Given the description of an element on the screen output the (x, y) to click on. 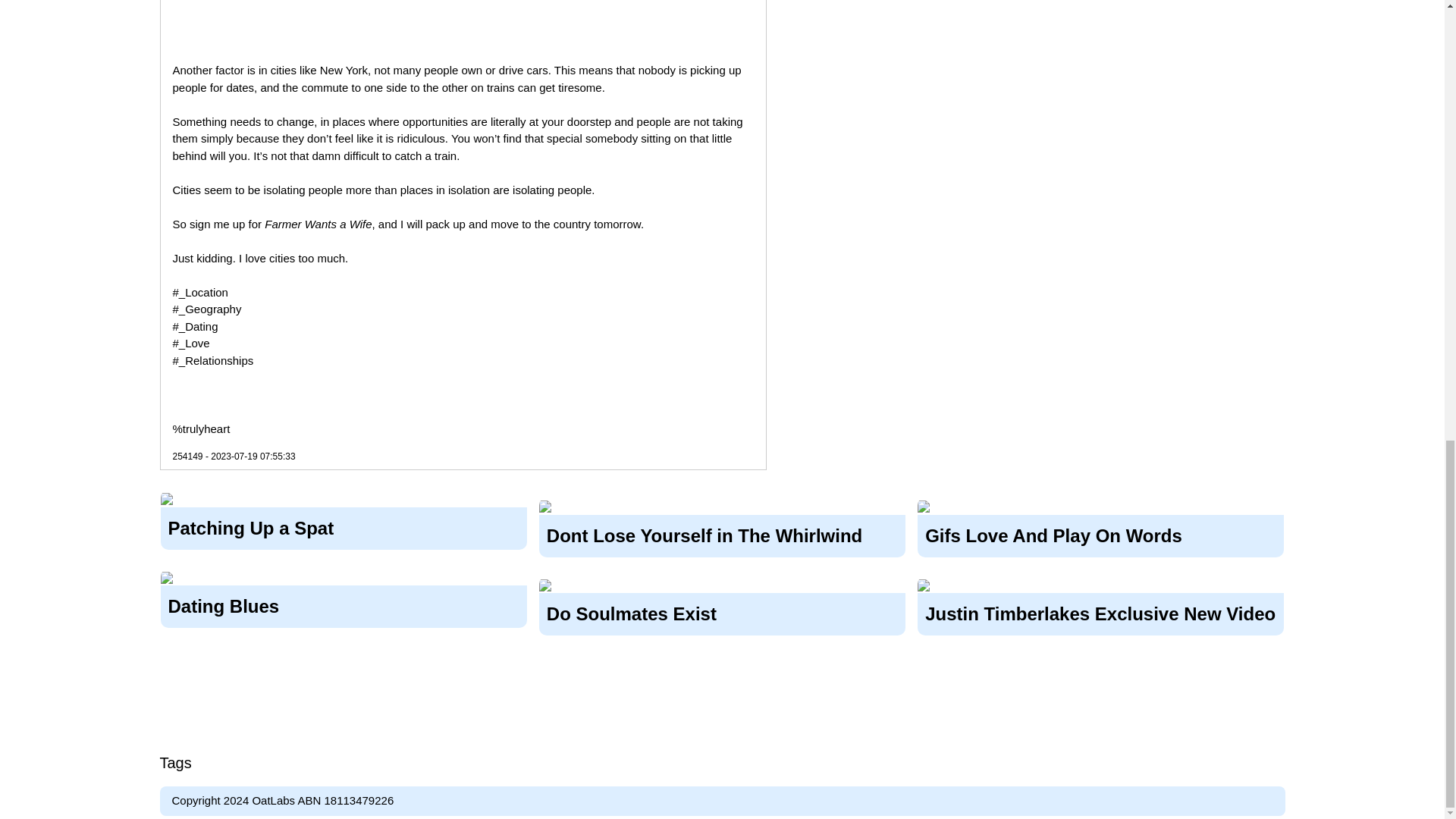
Justin Timberlakes Exclusive New Video (1100, 611)
Advertisement (463, 13)
Dont Lose Yourself in The Whirlwind (721, 532)
Gifs Love And Play On Words (1100, 532)
Do Soulmates Exist (721, 611)
Patching Up a Spat (343, 525)
Dating Blues (343, 603)
